Given the description of an element on the screen output the (x, y) to click on. 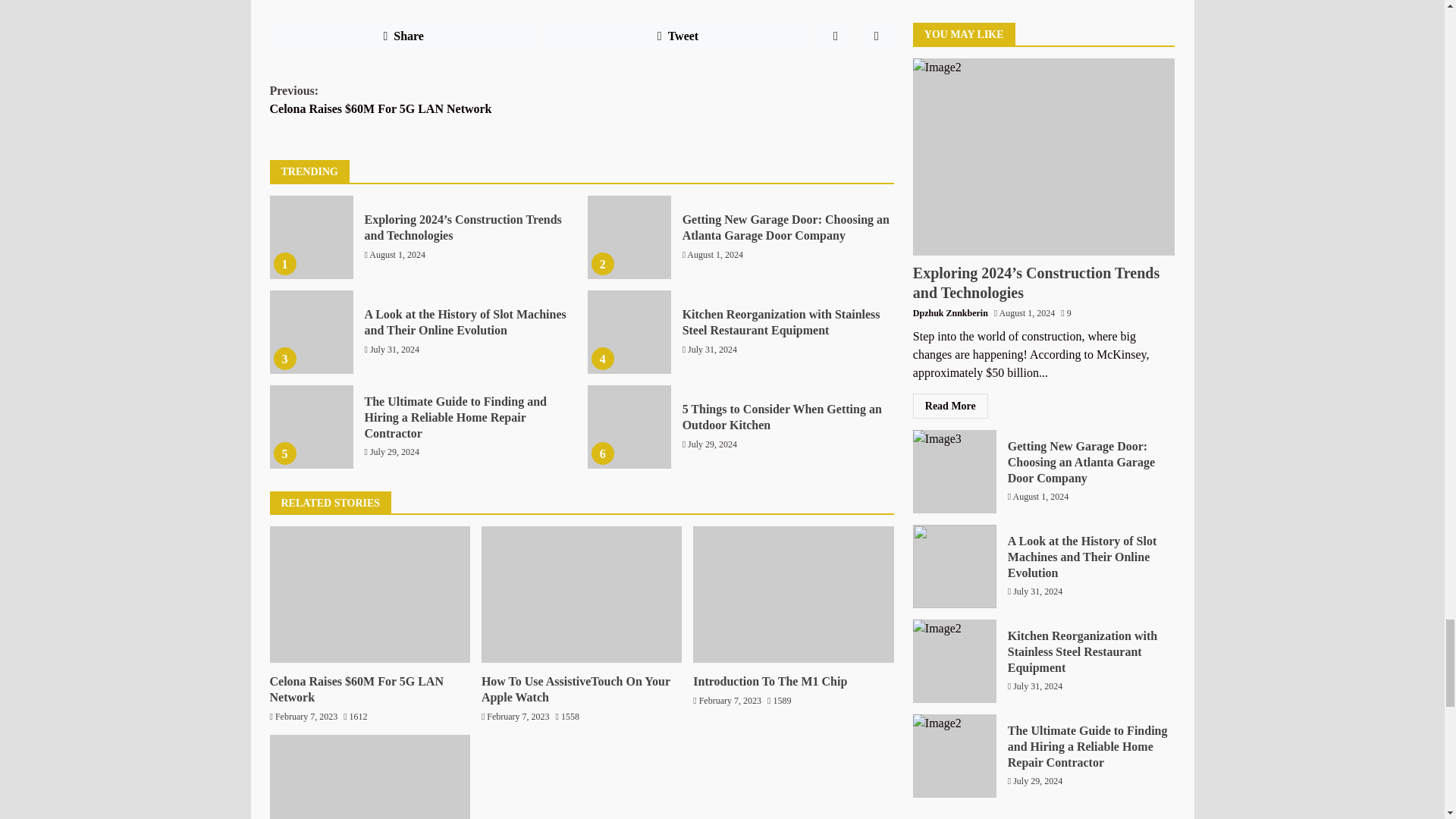
5 Things to Consider When Getting an Outdoor Kitchen (782, 416)
Share (403, 35)
Tweet (677, 35)
5 Things to Consider When Getting an Outdoor Kitchen (629, 426)
1612 (354, 716)
